Given the description of an element on the screen output the (x, y) to click on. 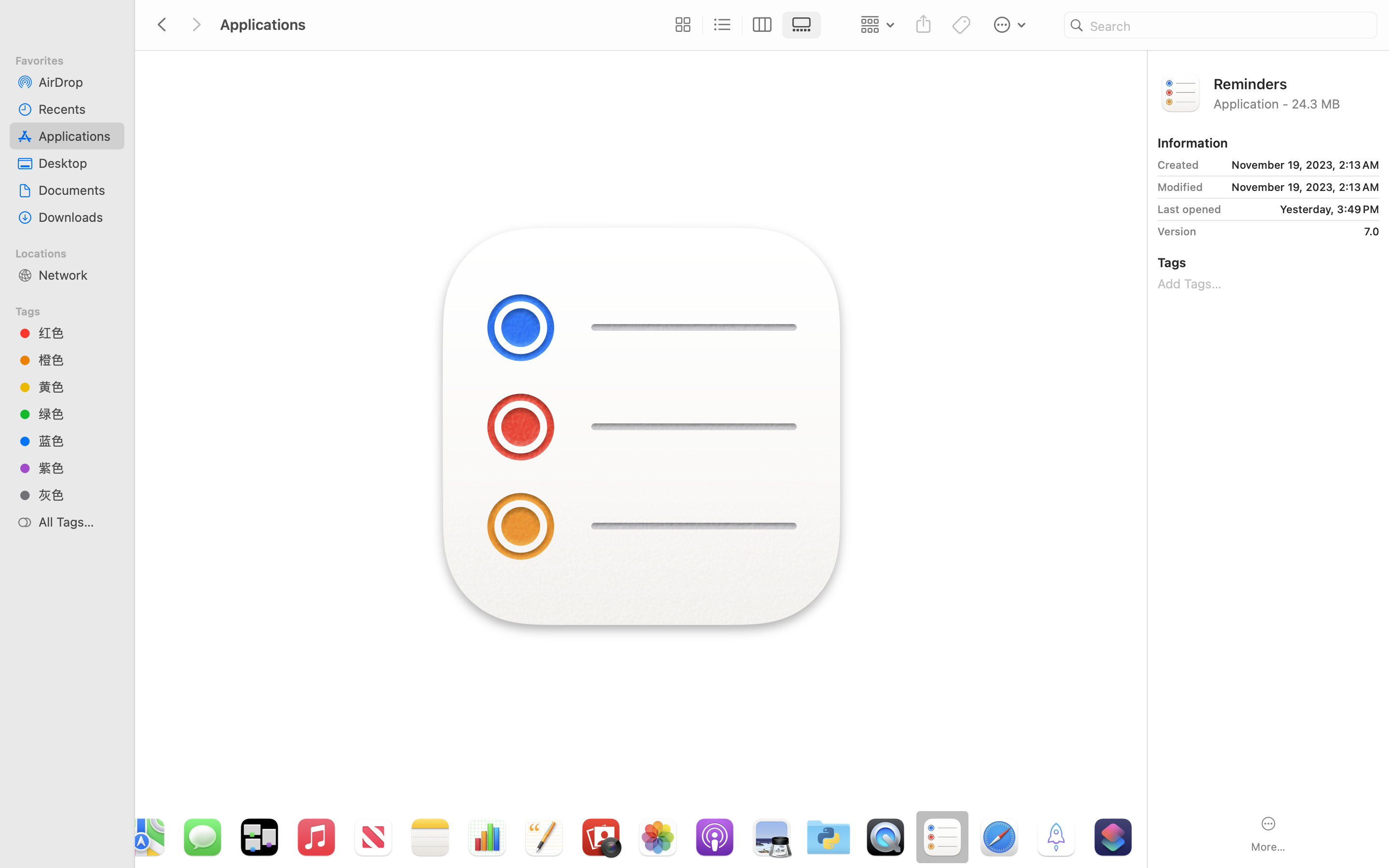
绿色 Element type: AXStaticText (77, 413)
Downloads Element type: AXStaticText (77, 216)
Recents Element type: AXStaticText (77, 108)
Last opened Element type: AXStaticText (1189, 209)
黄色 Element type: AXStaticText (77, 386)
